Given the description of an element on the screen output the (x, y) to click on. 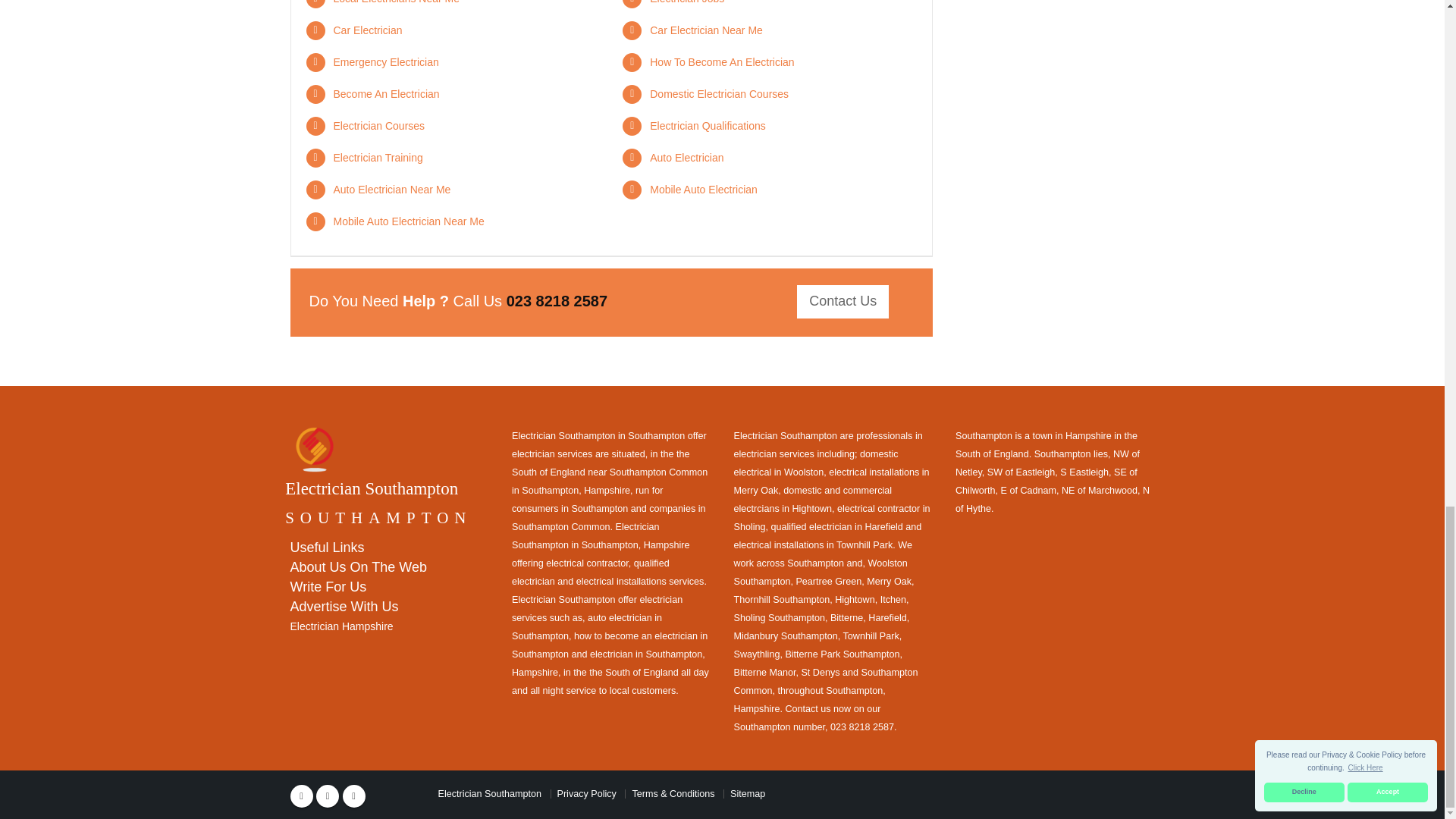
Car Electrician (368, 30)
Electrician Courses (379, 125)
Emergency Electrician (386, 61)
Twitter (327, 795)
Become An Electrician (386, 93)
Facebook (301, 795)
Local Electricians Near Me (396, 2)
Linkedin (353, 795)
